Given the description of an element on the screen output the (x, y) to click on. 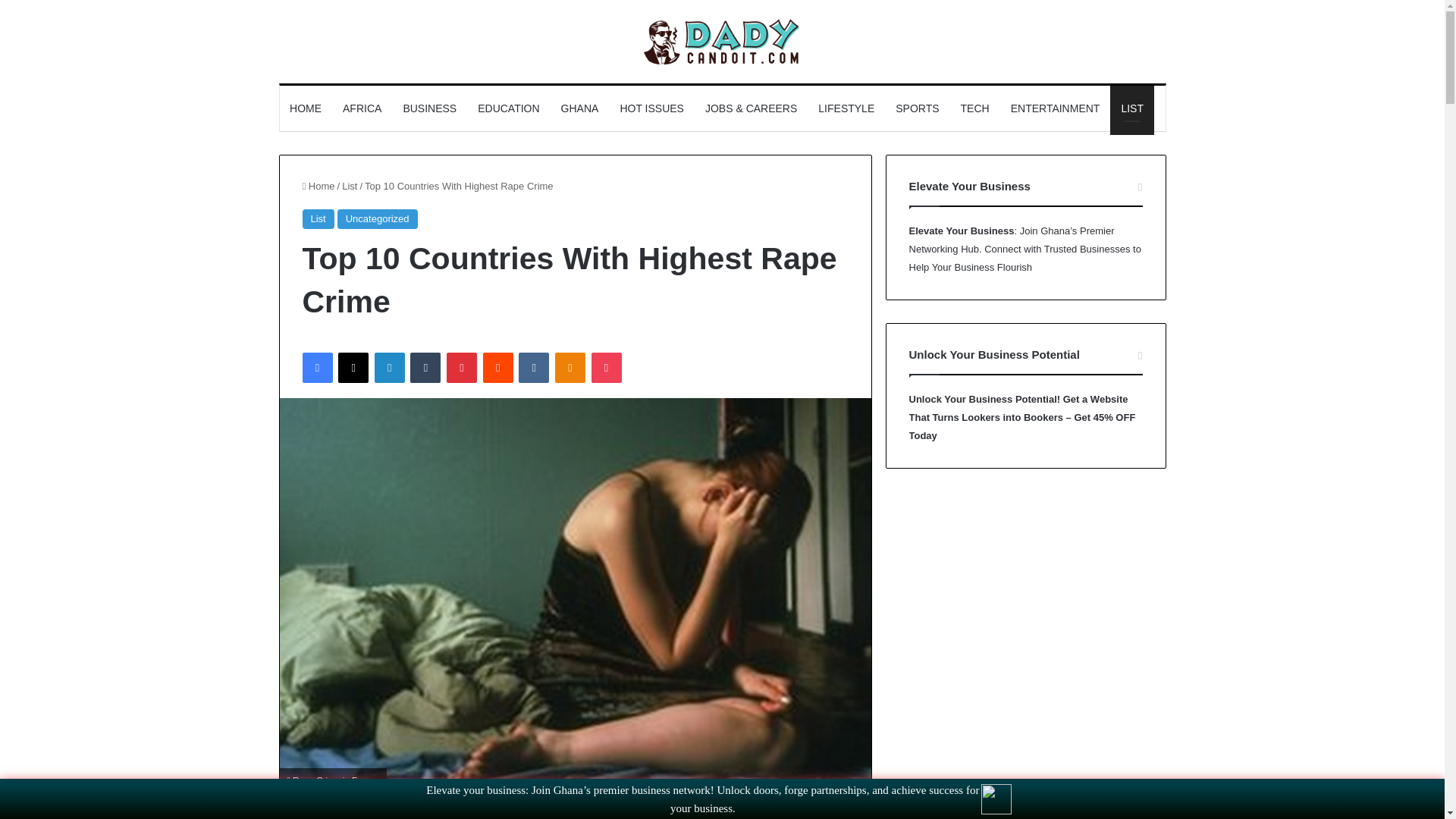
Pocket (606, 367)
Tumblr (425, 367)
ENTERTAINMENT (1055, 108)
Facebook (316, 367)
LIFESTYLE (846, 108)
X (352, 367)
Facebook (316, 367)
Home (317, 185)
List (349, 185)
Pocket (606, 367)
LinkedIn (389, 367)
LinkedIn (389, 367)
Uncategorized (377, 219)
Odnoklassniki (569, 367)
LIST (1131, 108)
